Given the description of an element on the screen output the (x, y) to click on. 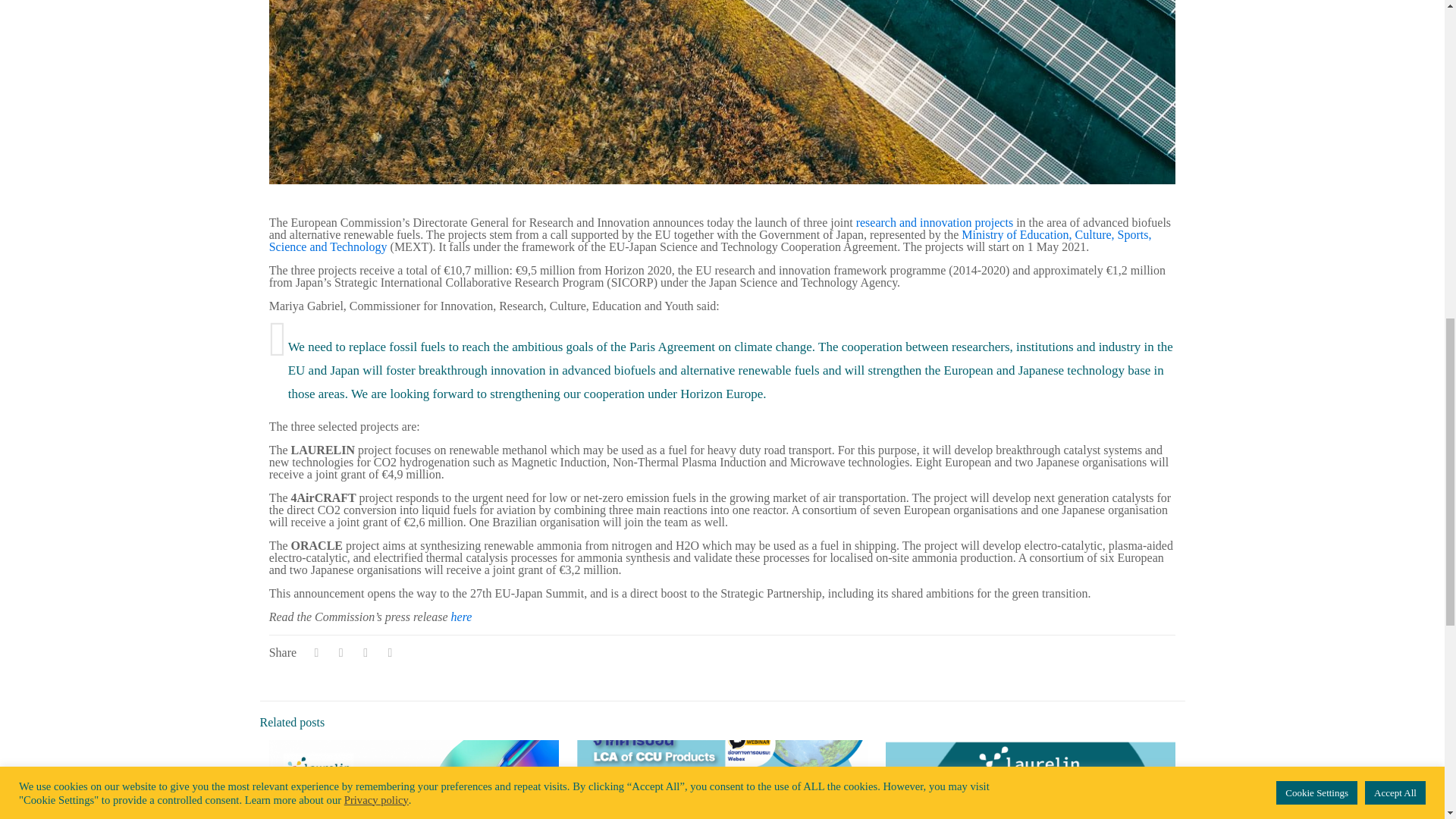
here (461, 616)
research and innovation projects (934, 222)
